Given the description of an element on the screen output the (x, y) to click on. 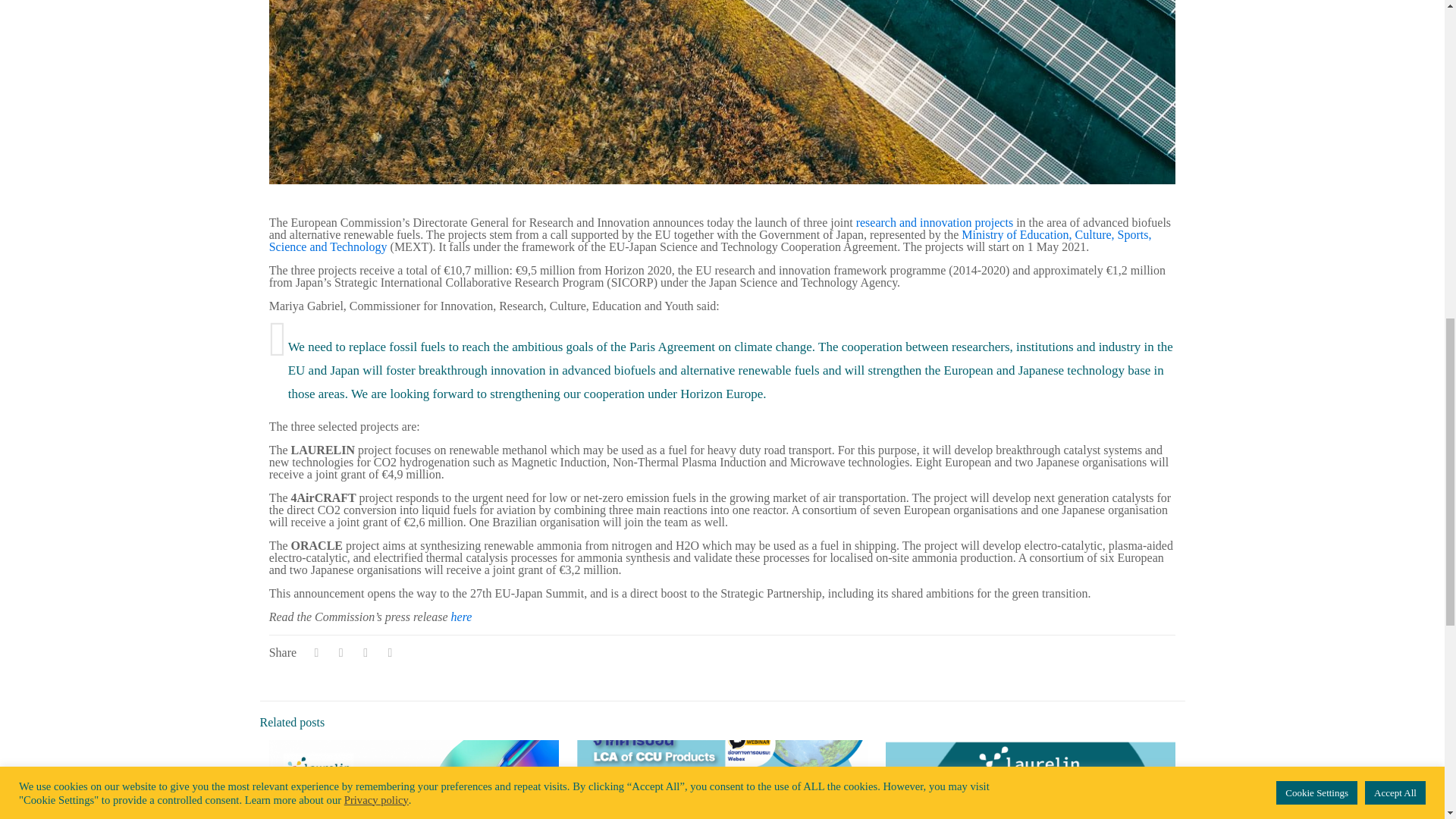
here (461, 616)
research and innovation projects (934, 222)
